Given the description of an element on the screen output the (x, y) to click on. 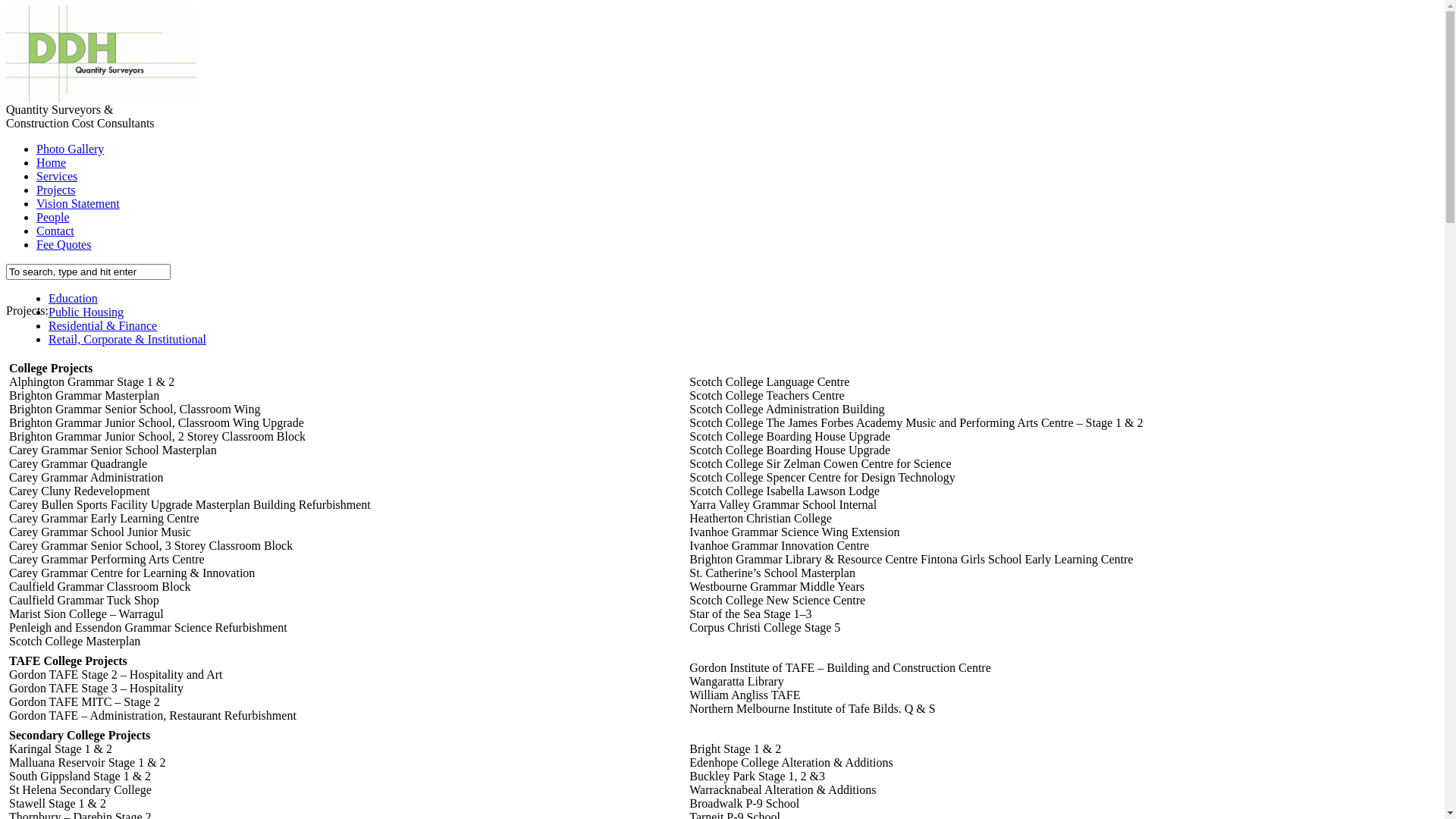
Fee Quotes Element type: text (63, 244)
People Element type: text (52, 216)
Education Element type: text (72, 297)
Projects Element type: text (55, 189)
Services Element type: text (56, 175)
Retail, Corporate & Institutional Element type: text (127, 338)
Home Element type: text (50, 162)
Residential & Finance Element type: text (102, 325)
Contact Element type: text (55, 230)
Public Housing Element type: text (85, 311)
Vision Statement Element type: text (77, 203)
Photo Gallery Element type: text (69, 148)
